Given the description of an element on the screen output the (x, y) to click on. 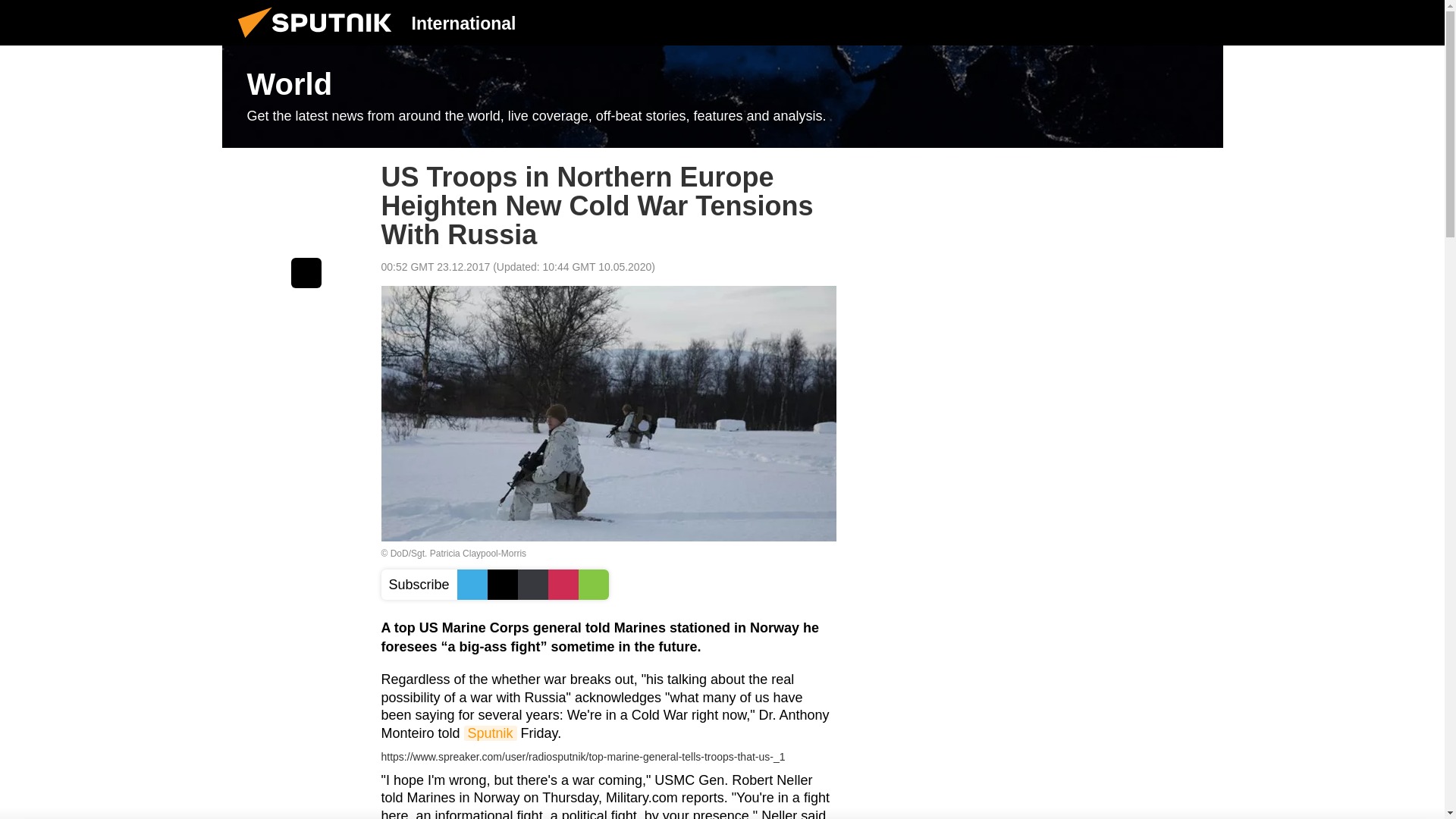
World (722, 96)
Chats (1199, 22)
Sputnik International (319, 41)
Authorization (1123, 22)
